Given the description of an element on the screen output the (x, y) to click on. 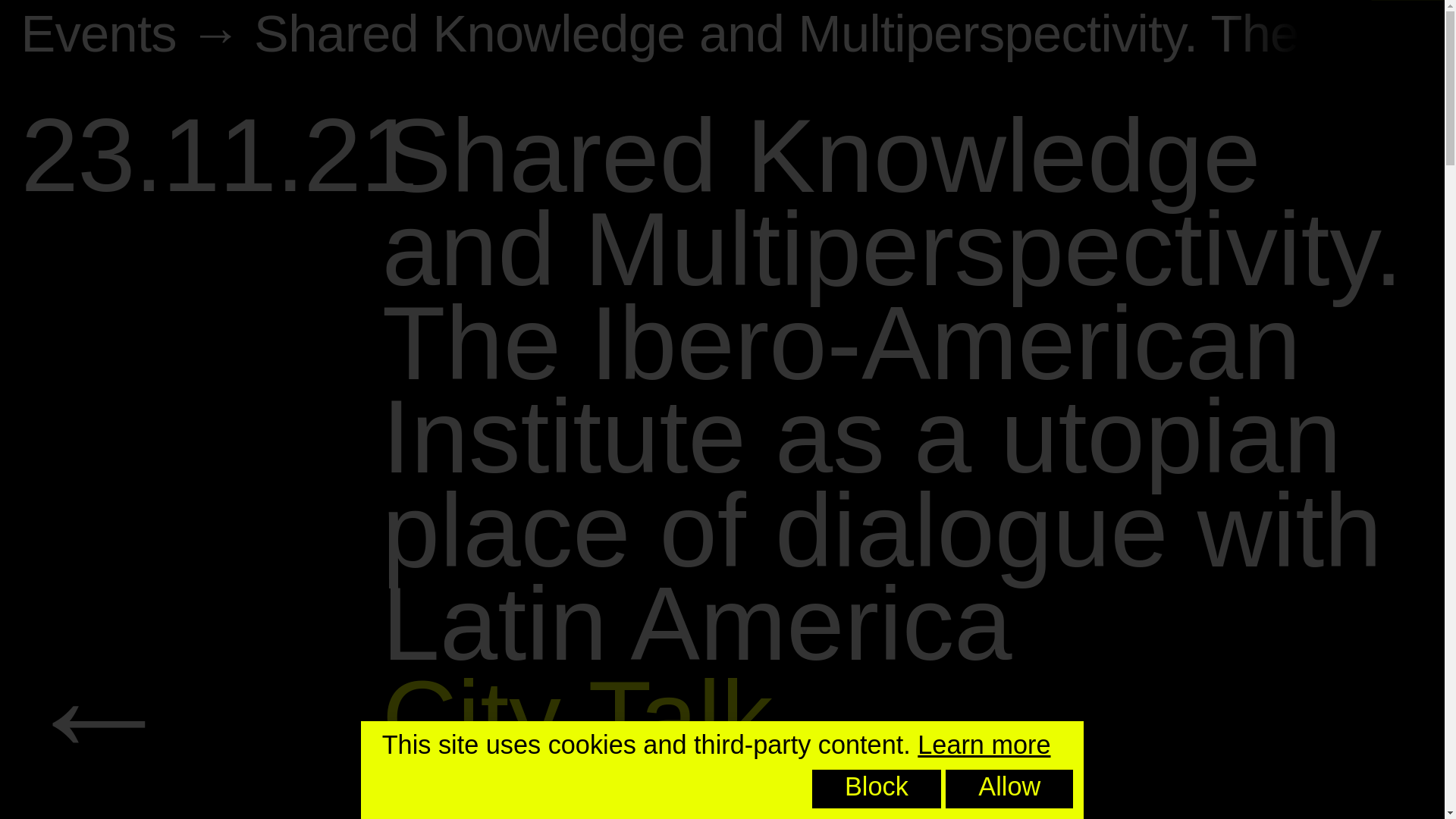
Block (876, 788)
Events (98, 33)
All Exhibitions (98, 716)
Learn more (983, 744)
Allow (1008, 788)
